Given the description of an element on the screen output the (x, y) to click on. 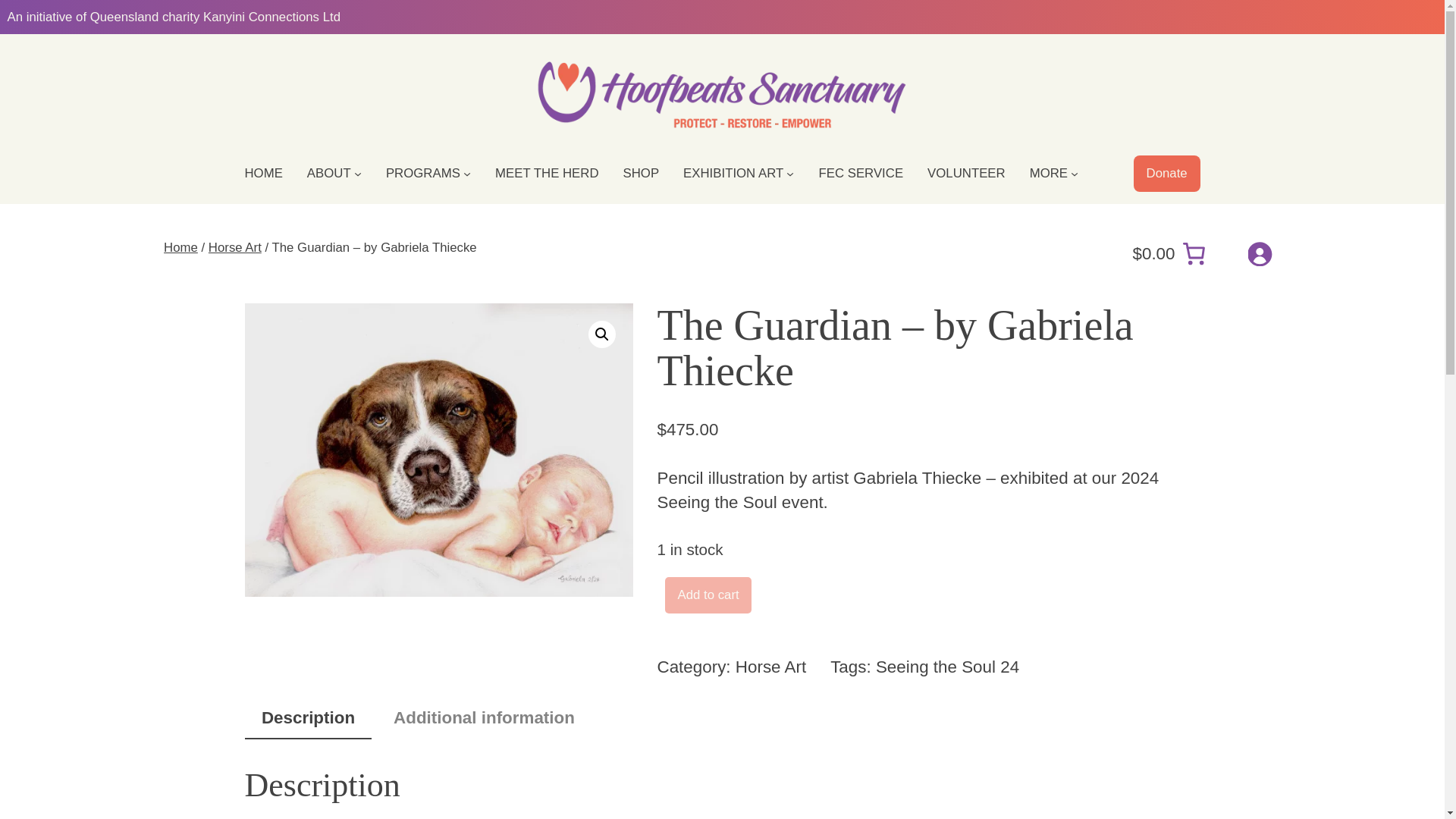
MORE (1048, 173)
ABOUT (328, 173)
EXHIBITION ART (732, 173)
VOLUNTEER (966, 173)
SHOP (641, 173)
MEET THE HERD (546, 173)
FEC SERVICE (860, 173)
HOME (263, 173)
PROGRAMS (422, 173)
Donate (1166, 173)
Home (180, 247)
